Given the description of an element on the screen output the (x, y) to click on. 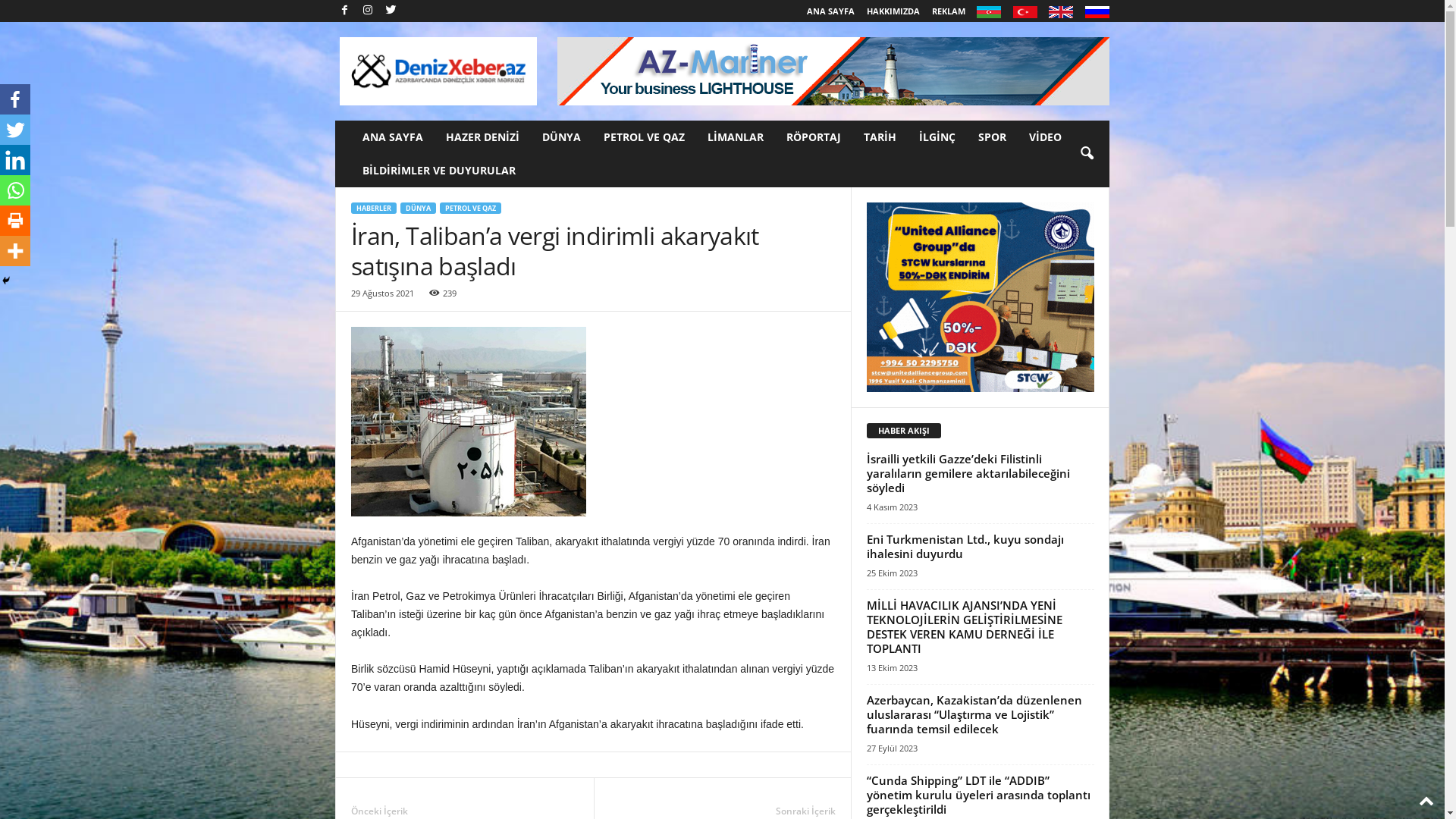
LIMANLAR Element type: text (735, 136)
Linkedin Element type: hover (15, 159)
Hide Element type: hover (6, 280)
SPOR Element type: text (991, 136)
TARIH Element type: text (879, 136)
ANA SAYFA Element type: text (830, 10)
HABERLER Element type: text (373, 207)
Instagram Element type: hover (367, 10)
PETROL VE QAZ Element type: text (470, 207)
BILDIRIMLER VE DUYURULAR Element type: text (439, 170)
173046 Element type: hover (468, 421)
Twitter Element type: hover (15, 129)
Facebook Element type: hover (344, 10)
More Element type: hover (15, 250)
PETROL VE QAZ Element type: text (644, 136)
REKLAM Element type: text (947, 10)
Twitter Element type: hover (390, 10)
VIDEO Element type: text (1045, 136)
ANA SAYFA Element type: text (392, 136)
HAZER DENIZI Element type: text (482, 136)
HAKKIMIZDA Element type: text (892, 10)
Whatsapp Element type: hover (15, 190)
Facebook Element type: hover (15, 99)
Print Element type: hover (15, 220)
